Given the description of an element on the screen output the (x, y) to click on. 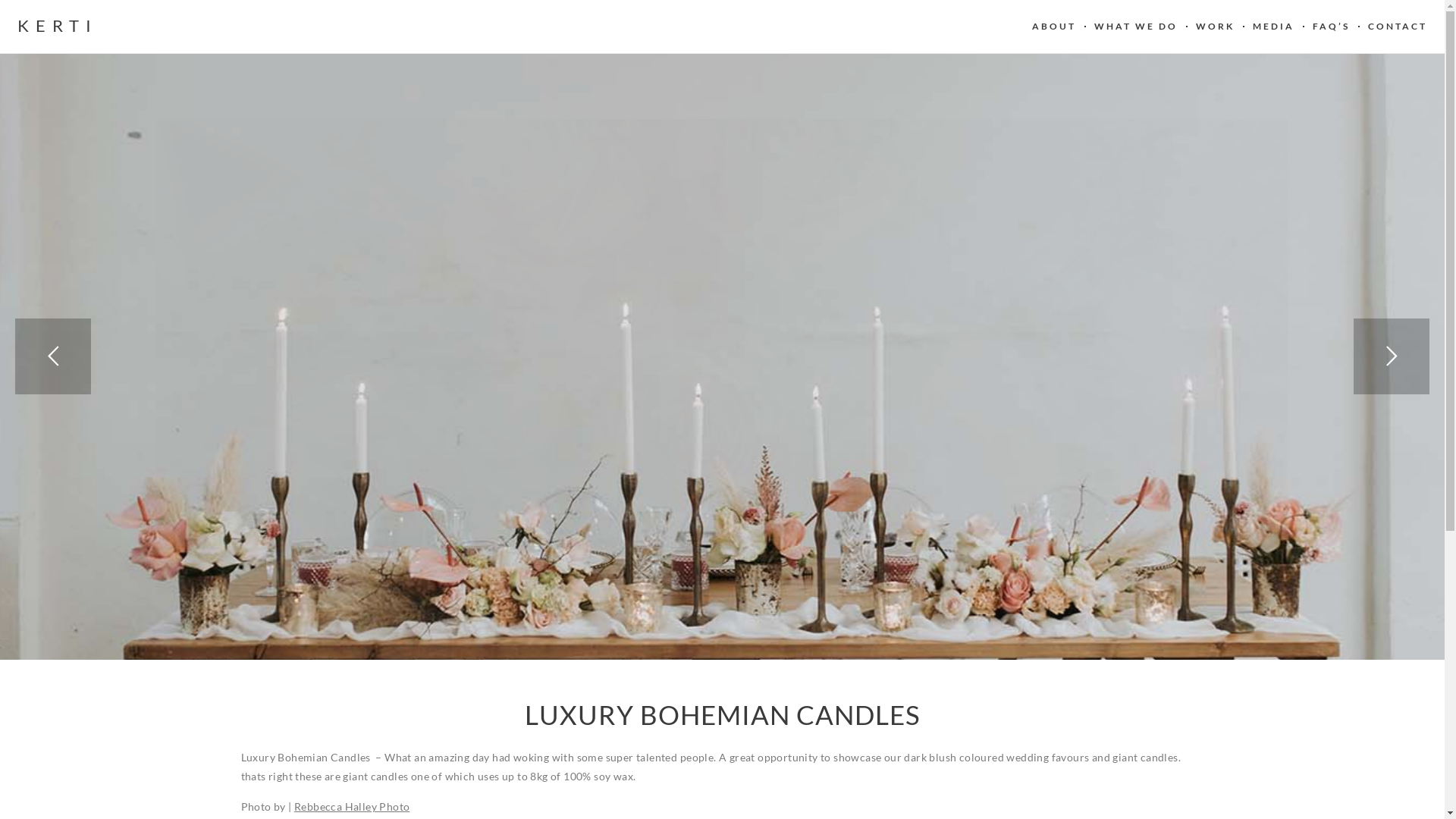
Rebbecca Halley Photo Element type: text (351, 806)
MEDIA Element type: text (1273, 26)
ABOUT Element type: text (1054, 26)
KERTI Element type: text (57, 24)
WHAT WE DO Element type: text (1135, 26)
WORK Element type: text (1214, 26)
CONTACT Element type: text (1397, 26)
